Given the description of an element on the screen output the (x, y) to click on. 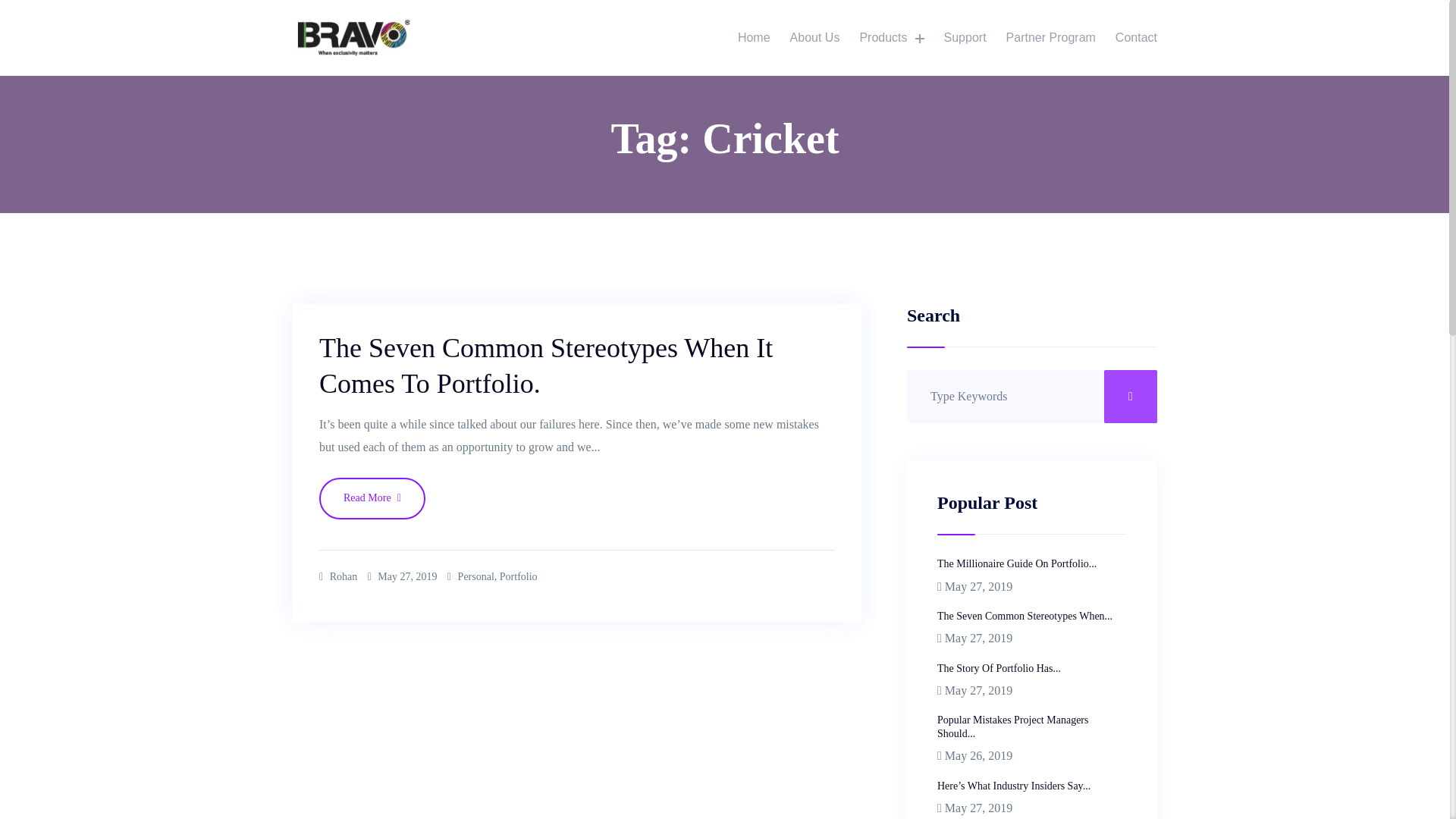
Support (965, 38)
Contact (1136, 38)
Partner Program (1050, 38)
About Us (814, 38)
Products (890, 38)
